Given the description of an element on the screen output the (x, y) to click on. 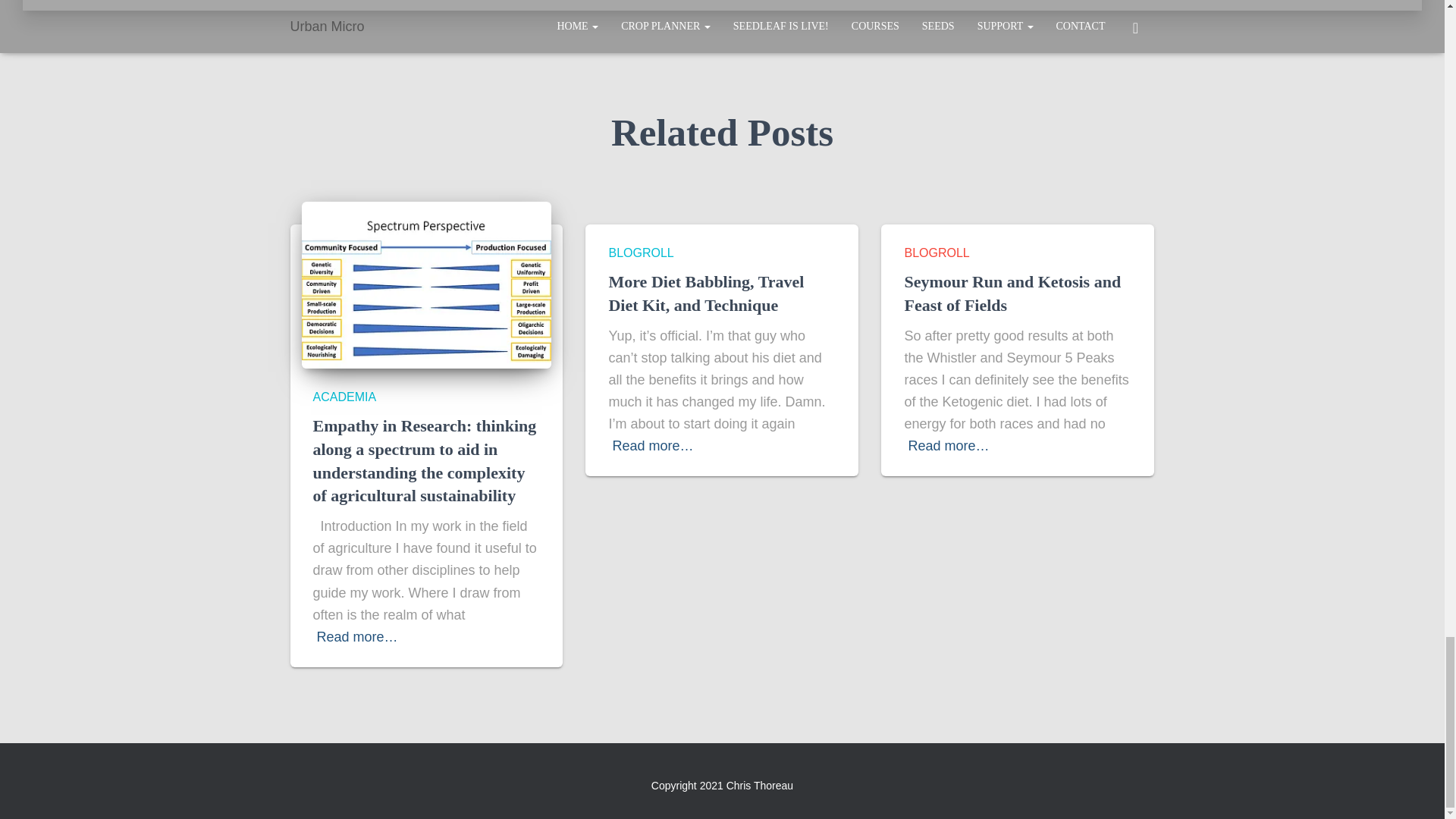
BLOGROLL (640, 252)
ACADEMIA (344, 396)
